Given the description of an element on the screen output the (x, y) to click on. 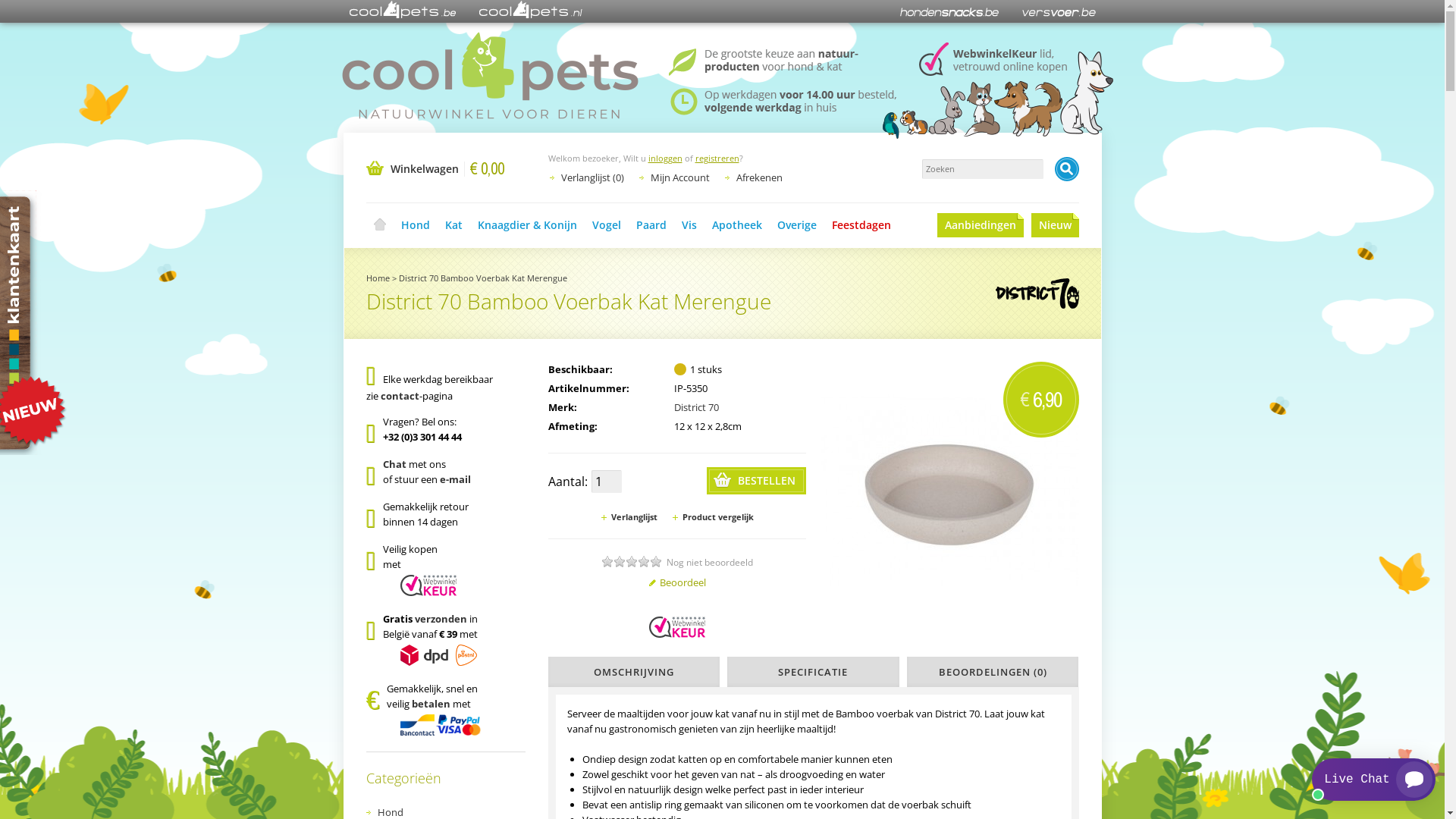
Overige Element type: text (795, 225)
Hond Element type: text (414, 225)
Apotheek Element type: text (735, 225)
Cool4pets.nl Element type: text (530, 11)
BESTELLEN Element type: text (756, 480)
District 70 Bamboo Voerbak Kat Merengue Element type: text (482, 277)
Home Element type: text (377, 277)
Vis Element type: text (688, 225)
betalen Element type: text (430, 703)
Vogel Element type: text (605, 225)
District 70 Element type: text (696, 407)
Product vergelijk Element type: text (712, 516)
Mijn Account Element type: text (679, 177)
District 70 Bamboo Voerbak Kat Merengue Element type: hover (949, 490)
Verlanglijst (0) Element type: text (592, 177)
Knaagdier & Konijn Element type: text (527, 225)
Zoeken Element type: hover (1066, 168)
Verlanglijst Element type: text (628, 516)
contact Element type: text (399, 395)
Feestdagen Element type: text (860, 225)
Smartsupp widget button Element type: hover (1373, 779)
Chat Element type: text (394, 463)
inloggen Element type: text (664, 157)
e-mail Element type: text (454, 479)
Nieuw Element type: text (1055, 225)
Afrekenen Element type: text (758, 177)
Kat Element type: text (452, 225)
verzonden Element type: text (440, 618)
Cool4pets.be Element type: text (401, 11)
Paard Element type: text (650, 225)
Aanbiedingen Element type: text (980, 225)
hondensnacks.be Element type: text (948, 11)
OMSCHRIJVING Element type: text (633, 671)
versvoer.be Element type: text (1058, 11)
registreren Element type: text (716, 157)
Beperkte voorraad Element type: hover (680, 369)
SPECIFICATIE Element type: text (813, 671)
Home Element type: text (378, 225)
BEOORDELINGEN (0) Element type: text (992, 671)
Beoordeel Element type: text (676, 582)
